Given the description of an element on the screen output the (x, y) to click on. 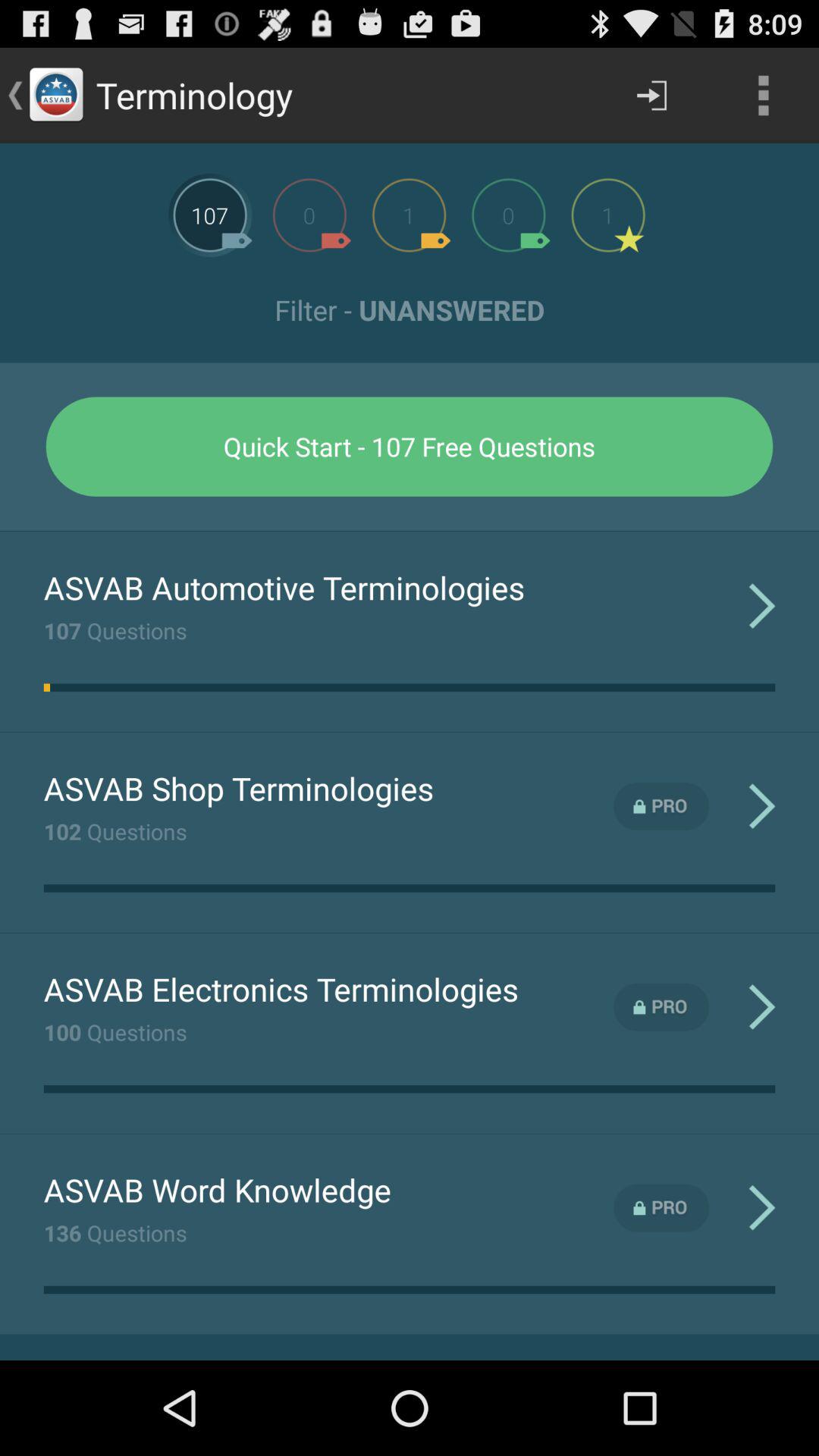
choose app above 136 questions item (217, 1189)
